Given the description of an element on the screen output the (x, y) to click on. 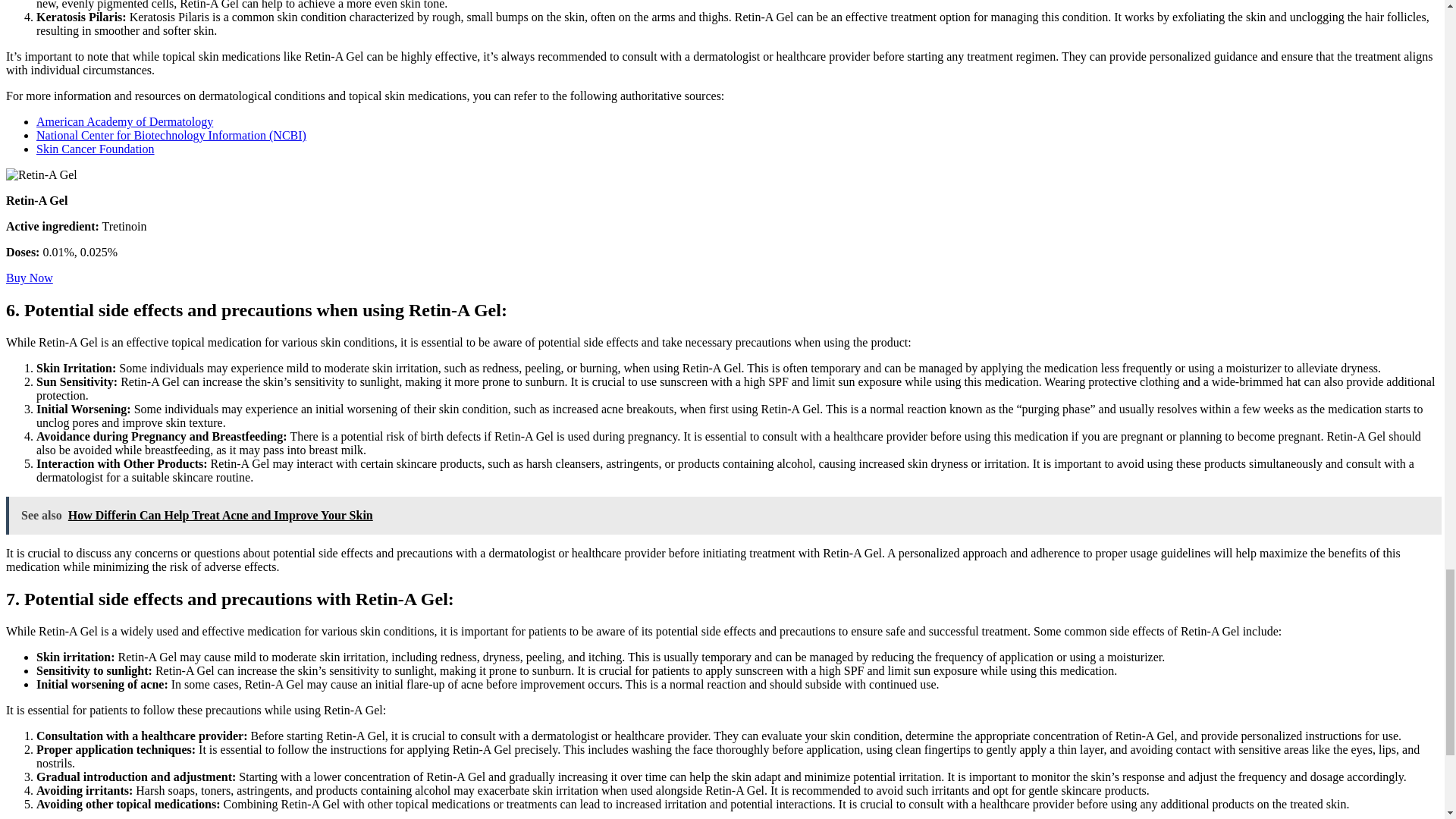
Skin Cancer Foundation (95, 148)
American Academy of Dermatology (124, 121)
Buy Now (28, 277)
Buy Now (28, 277)
